Given the description of an element on the screen output the (x, y) to click on. 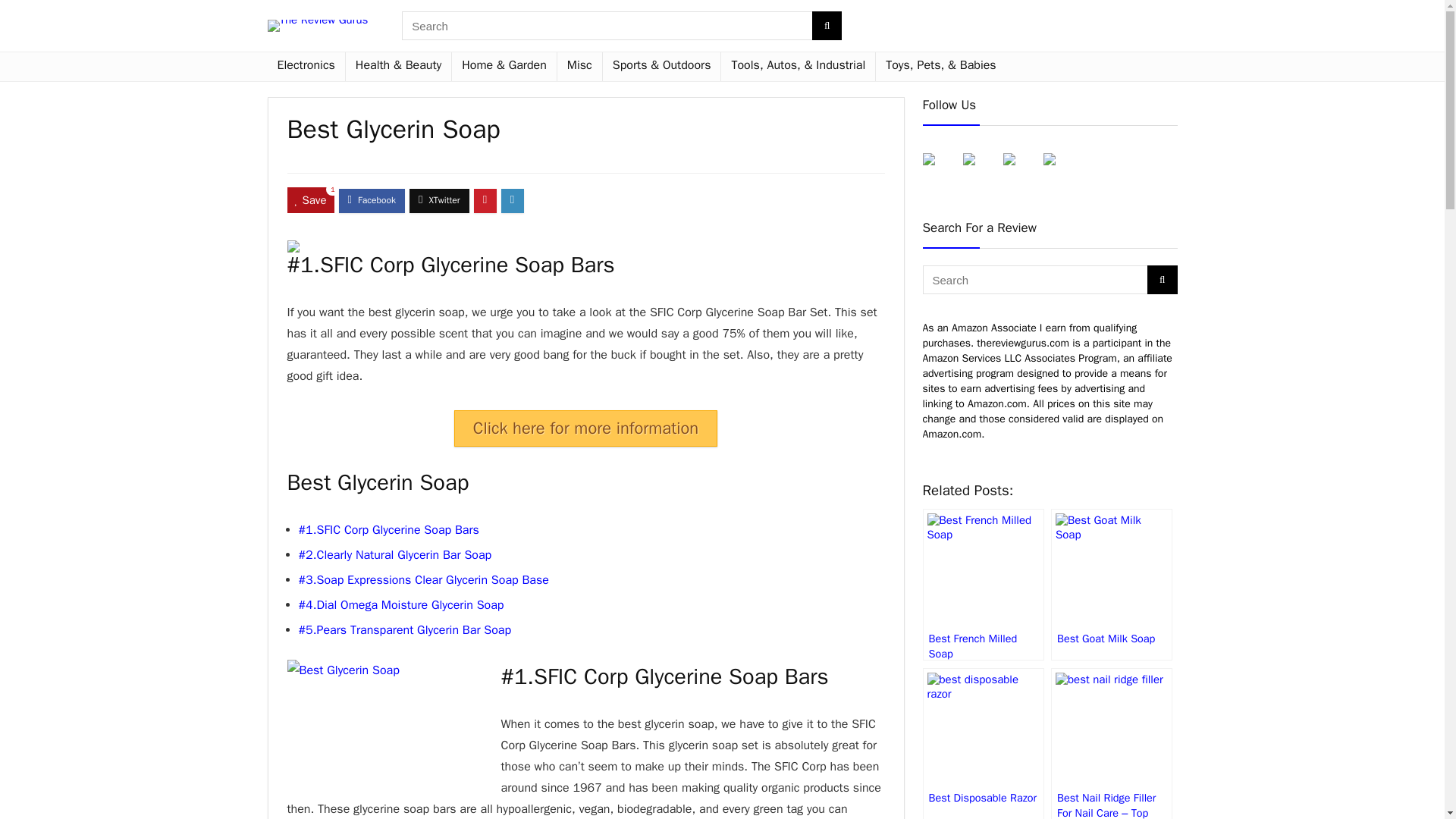
Follow us on Twitter (980, 171)
Find us on YouTube (1049, 159)
Find us on Linkedin (1021, 171)
Find us on YouTube (1061, 171)
Follow us on Facebook (939, 171)
Follow us on Facebook (927, 159)
Electronics (304, 66)
Find us on Linkedin (1008, 159)
Misc (579, 66)
Click here for more information (585, 428)
